Given the description of an element on the screen output the (x, y) to click on. 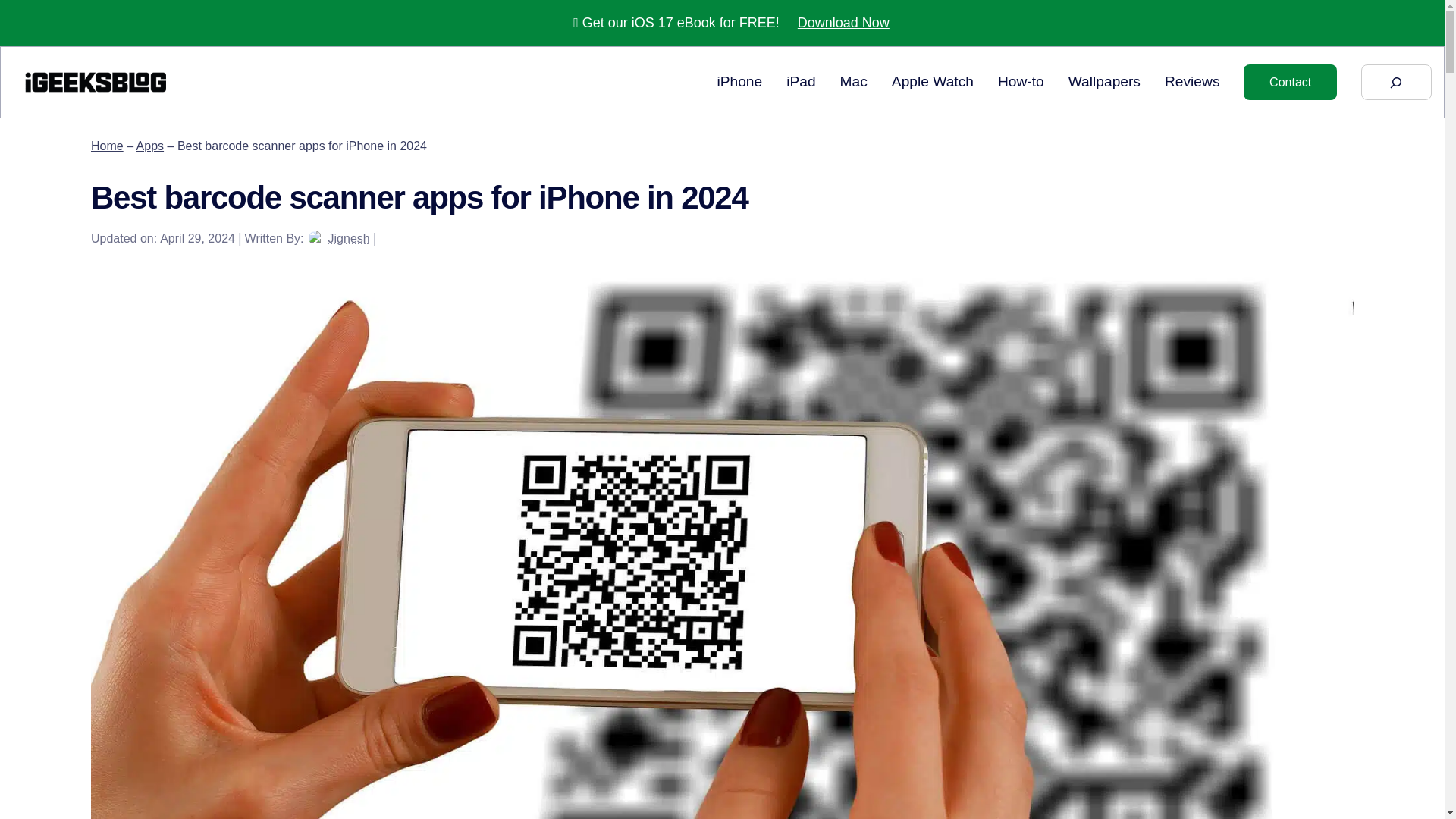
iPad (800, 82)
Home (106, 145)
Contact (1289, 81)
Reviews (1192, 82)
Apps (149, 145)
Home (106, 145)
Wallpapers (1104, 82)
Apple Watch (932, 82)
Best barcode scanner apps for iPhone in 2024 (94, 81)
